Given the description of an element on the screen output the (x, y) to click on. 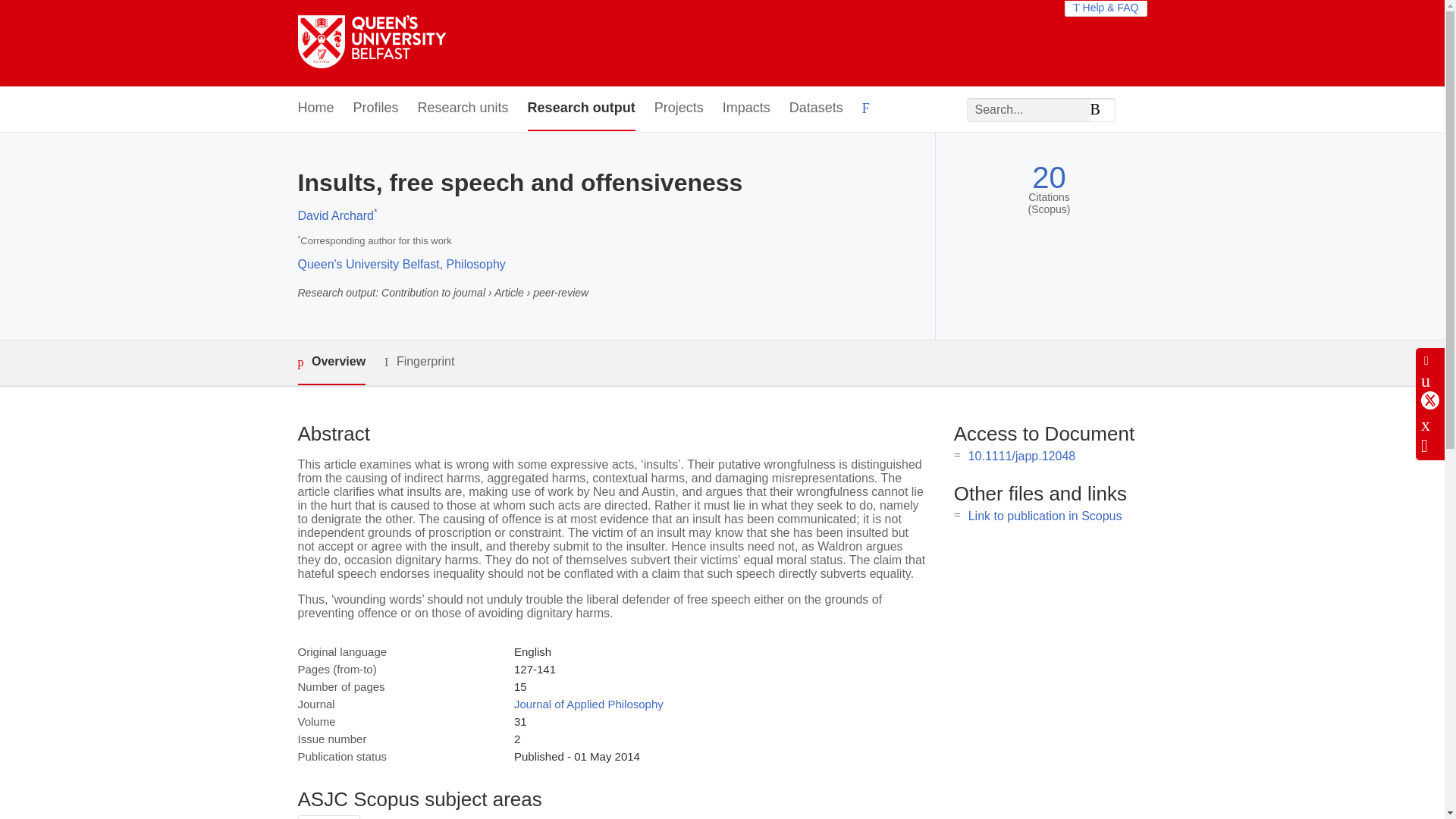
Profiles (375, 108)
David Archard (335, 215)
Link to publication in Scopus (1045, 515)
Overview (331, 362)
Impacts (746, 108)
Datasets (816, 108)
Research units (462, 108)
Queen's University Belfast (368, 264)
20 (1048, 177)
Research output (580, 108)
